Given the description of an element on the screen output the (x, y) to click on. 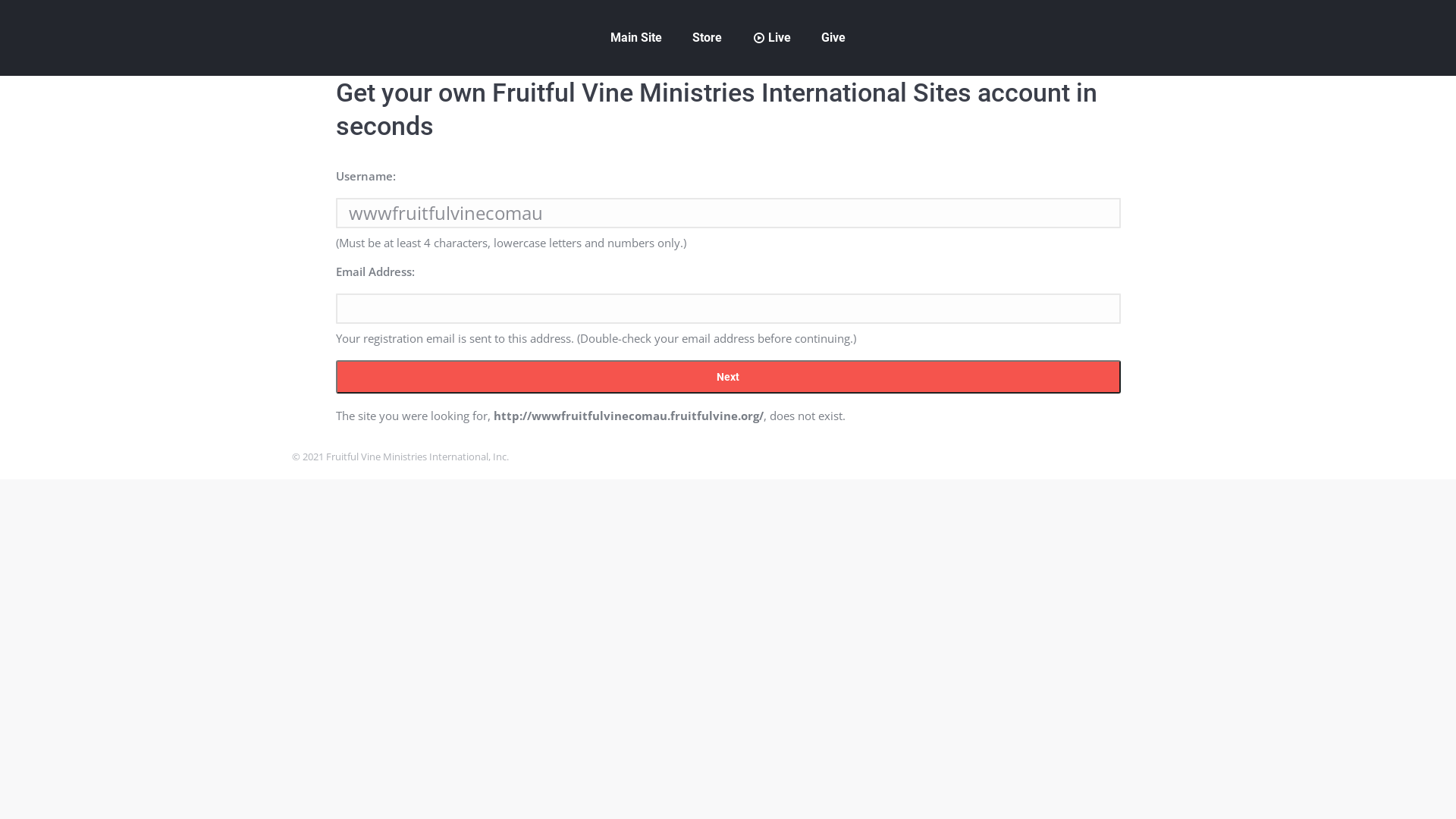
Next Element type: text (727, 376)
Main Site Element type: text (636, 37)
Live Element type: text (771, 37)
Give Element type: text (833, 37)
Store Element type: text (706, 37)
